Given the description of an element on the screen output the (x, y) to click on. 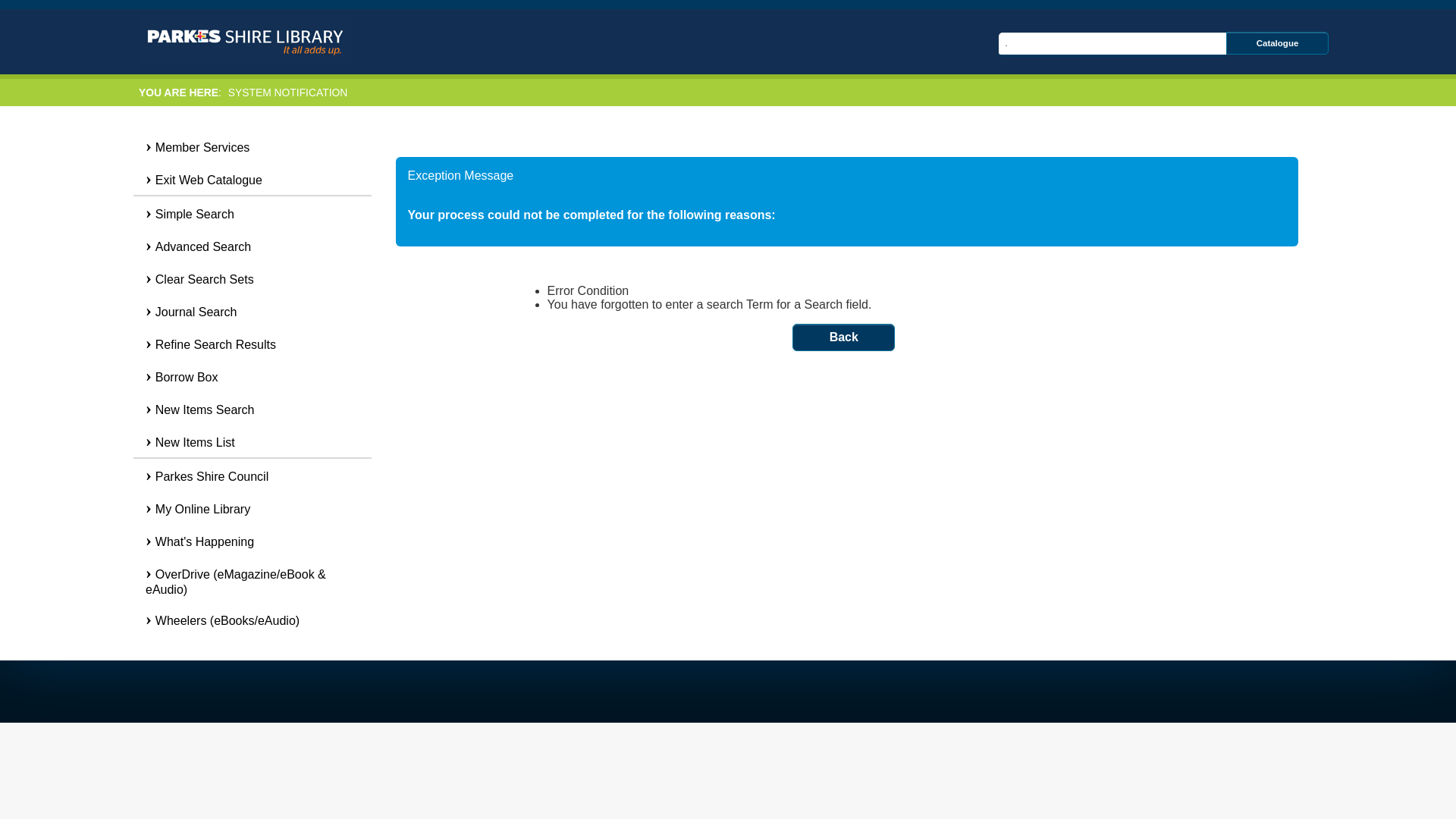
Exit Web Catalogue Element type: text (252, 178)
Clear Search Sets Element type: text (252, 277)
My Online Library Element type: text (252, 507)
Catalogue Element type: text (1277, 42)
Wheelers (eBooks/eAudio) Element type: text (252, 618)
OverDrive (eMagazine/eBook & eAudio) Element type: text (252, 579)
Simple Search Element type: text (252, 212)
Borrow Box Element type: text (252, 375)
Parkes Shire Council Element type: text (252, 474)
Journal Search Element type: text (252, 310)
What's Happening Element type: text (252, 540)
New Items List Element type: text (252, 440)
Visit Libero WebOPAC Element type: hover (246, 40)
New Items Search Element type: text (252, 408)
Refine Search Results Element type: text (252, 342)
Advanced Search Element type: text (252, 245)
Member Services Element type: text (252, 145)
Back Element type: text (843, 337)
